Given the description of an element on the screen output the (x, y) to click on. 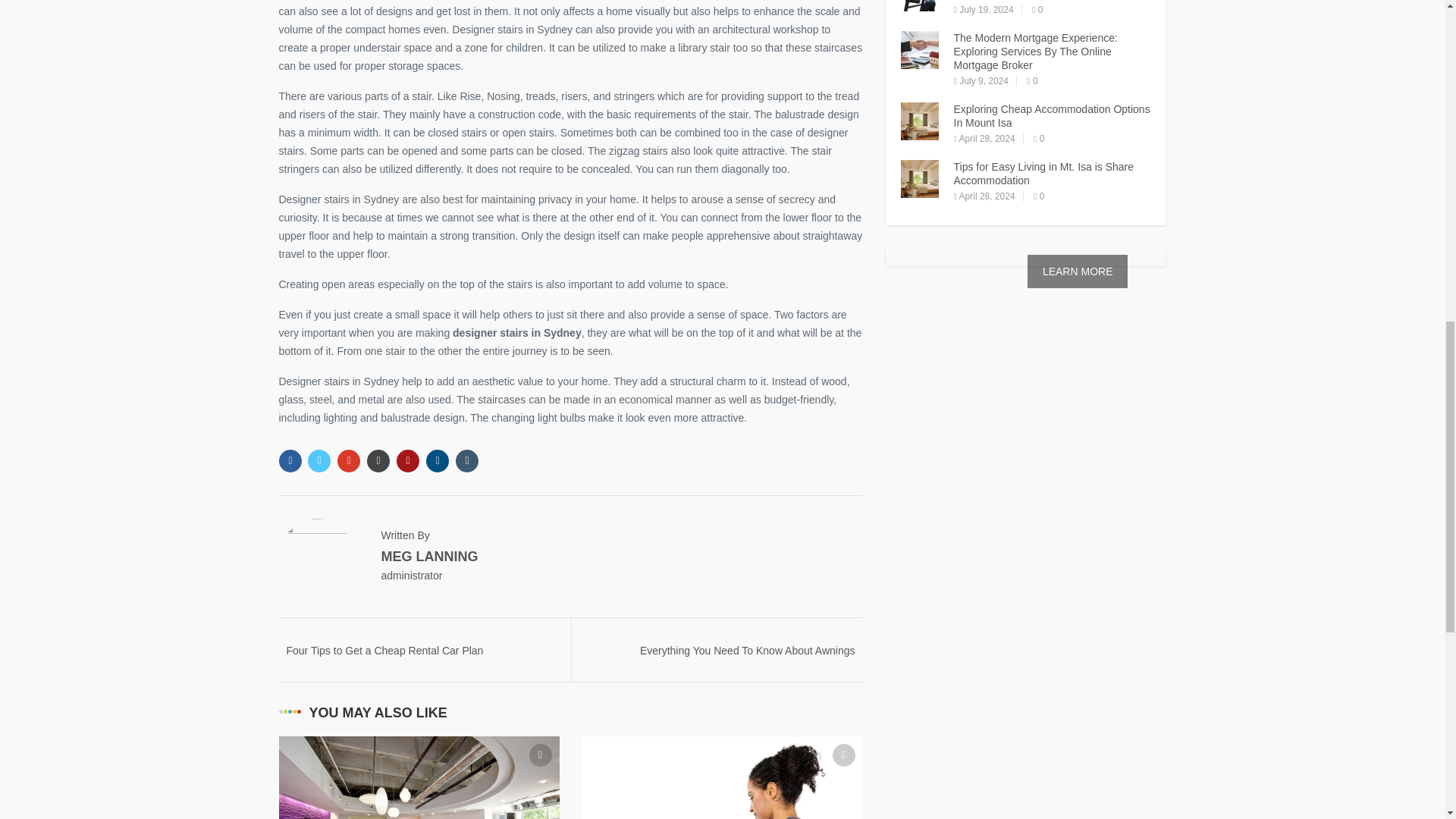
Four Tips to Get a Cheap Rental Car Plan (384, 650)
Everything You Need To Know About Awnings Product (748, 657)
MEG LANNING (428, 556)
